Given the description of an element on the screen output the (x, y) to click on. 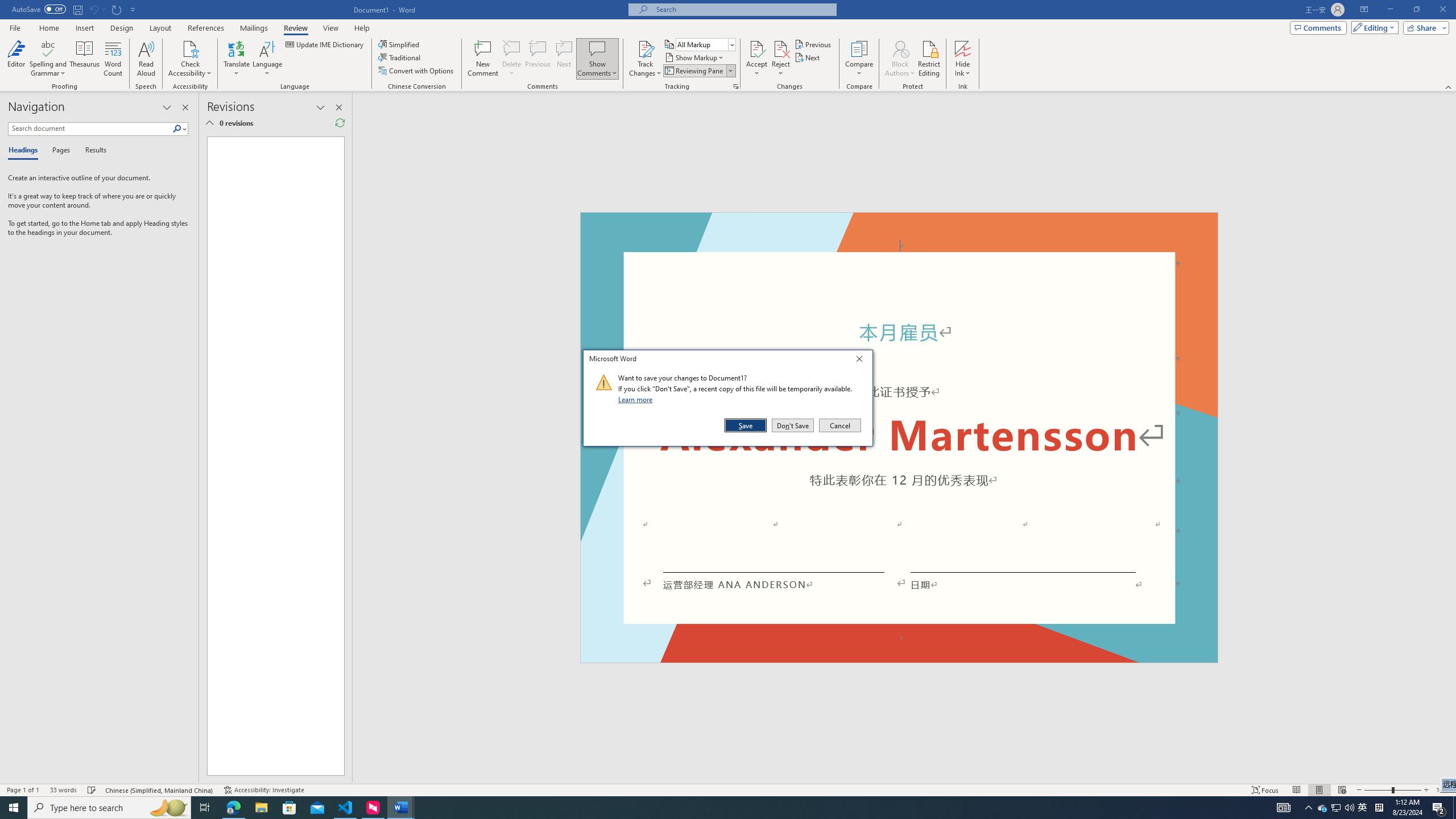
Action Center, 2 new notifications (1439, 807)
Word - 2 running windows (400, 807)
New Comment (482, 58)
Read Aloud (145, 58)
Update IME Dictionary... (324, 44)
Simplified (400, 44)
Spelling and Grammar (1335, 807)
